Given the description of an element on the screen output the (x, y) to click on. 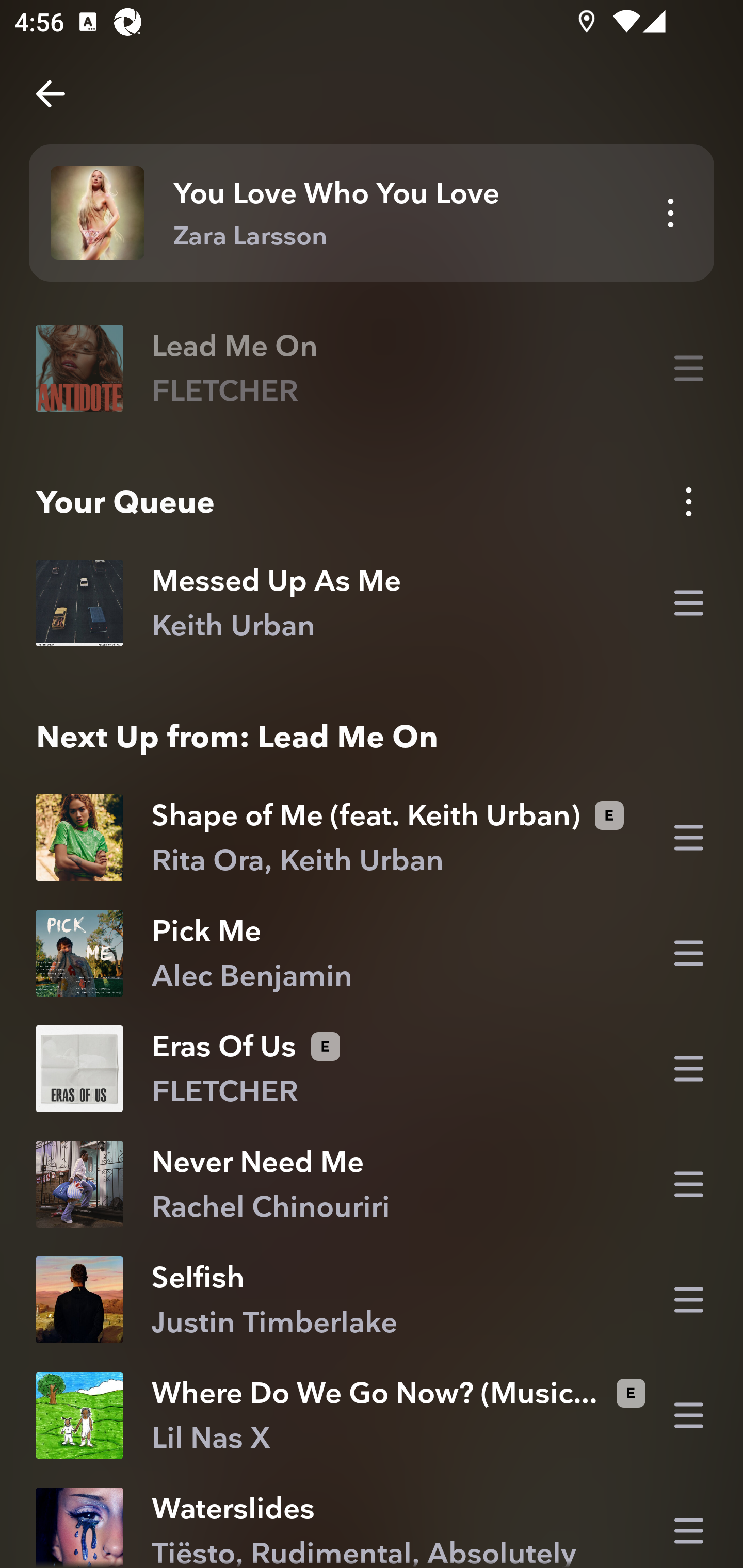
You Love Who You Love Zara Larsson (371, 213)
Lead Me On FLETCHER (371, 368)
Options (688, 501)
Messed Up As Me Keith Urban (371, 602)
Pick Me Alec Benjamin (371, 953)
Eras Of Us FLETCHER (371, 1068)
Never Need Me Rachel Chinouriri (371, 1183)
Selfish Justin Timberlake (371, 1299)
Waterslides Tiësto, Rudimental, Absolutely (371, 1520)
